Given the description of an element on the screen output the (x, y) to click on. 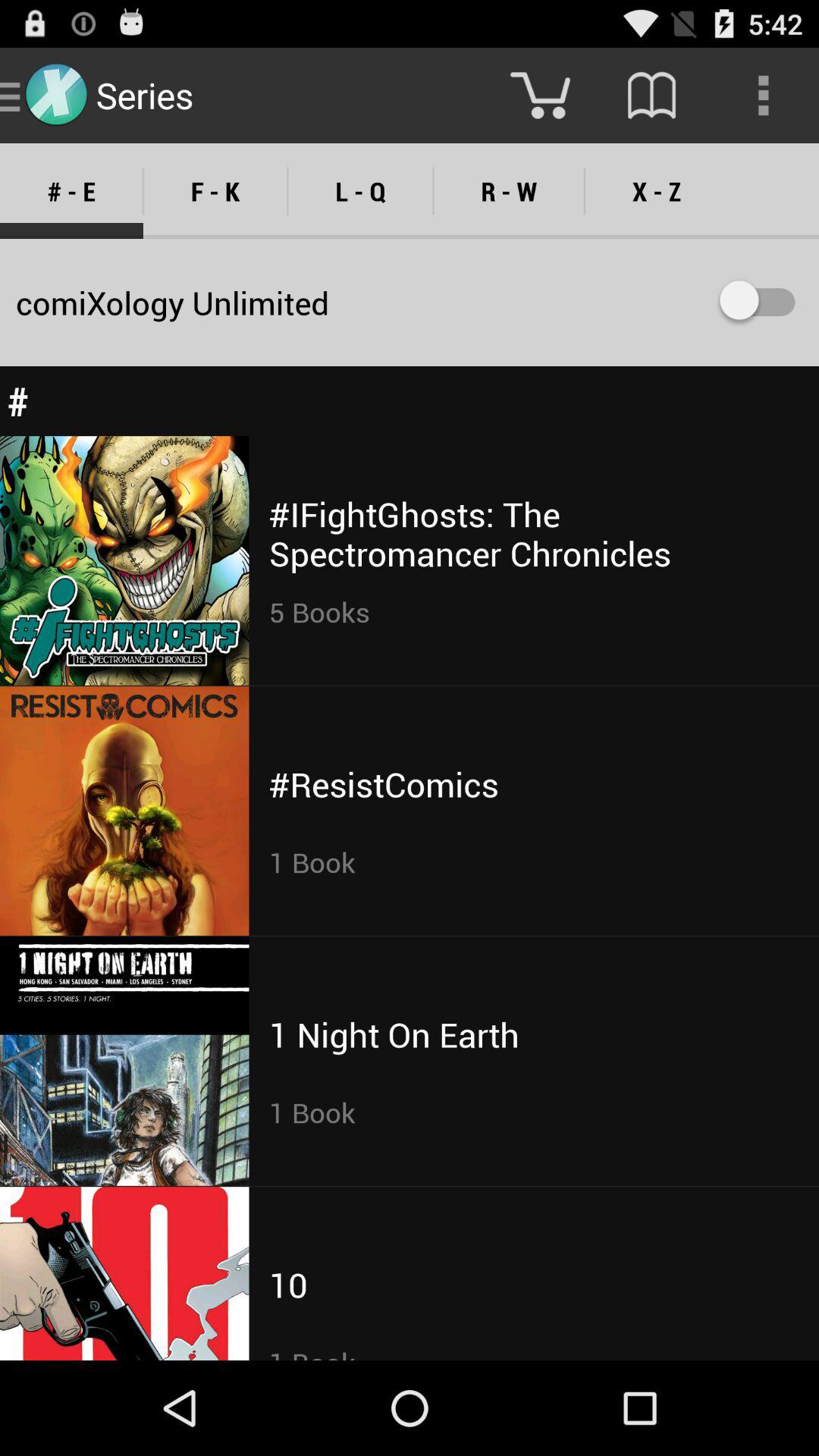
open the icon next to l - q icon (508, 190)
